Given the description of an element on the screen output the (x, y) to click on. 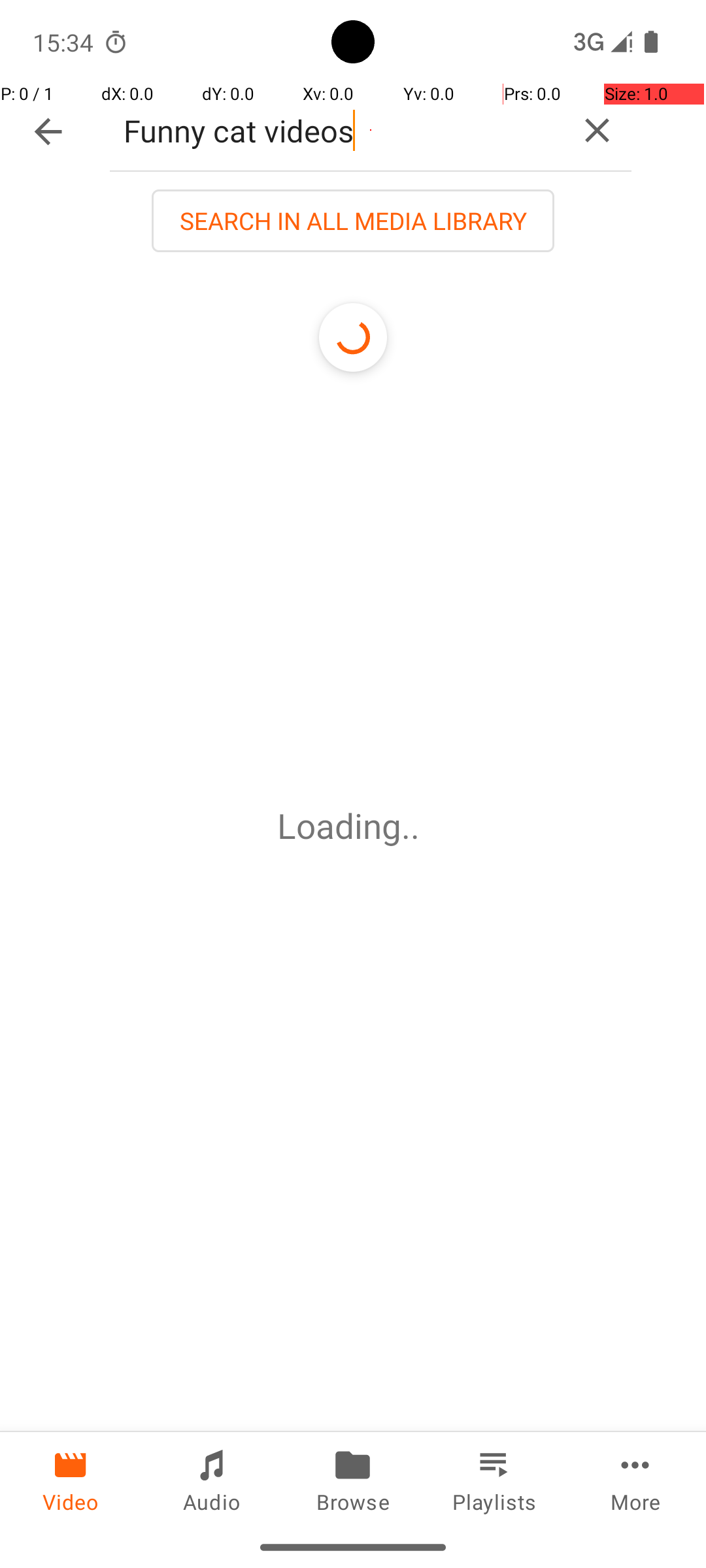
Funny cat videos Element type: android.widget.AutoCompleteTextView (335, 130)
